Given the description of an element on the screen output the (x, y) to click on. 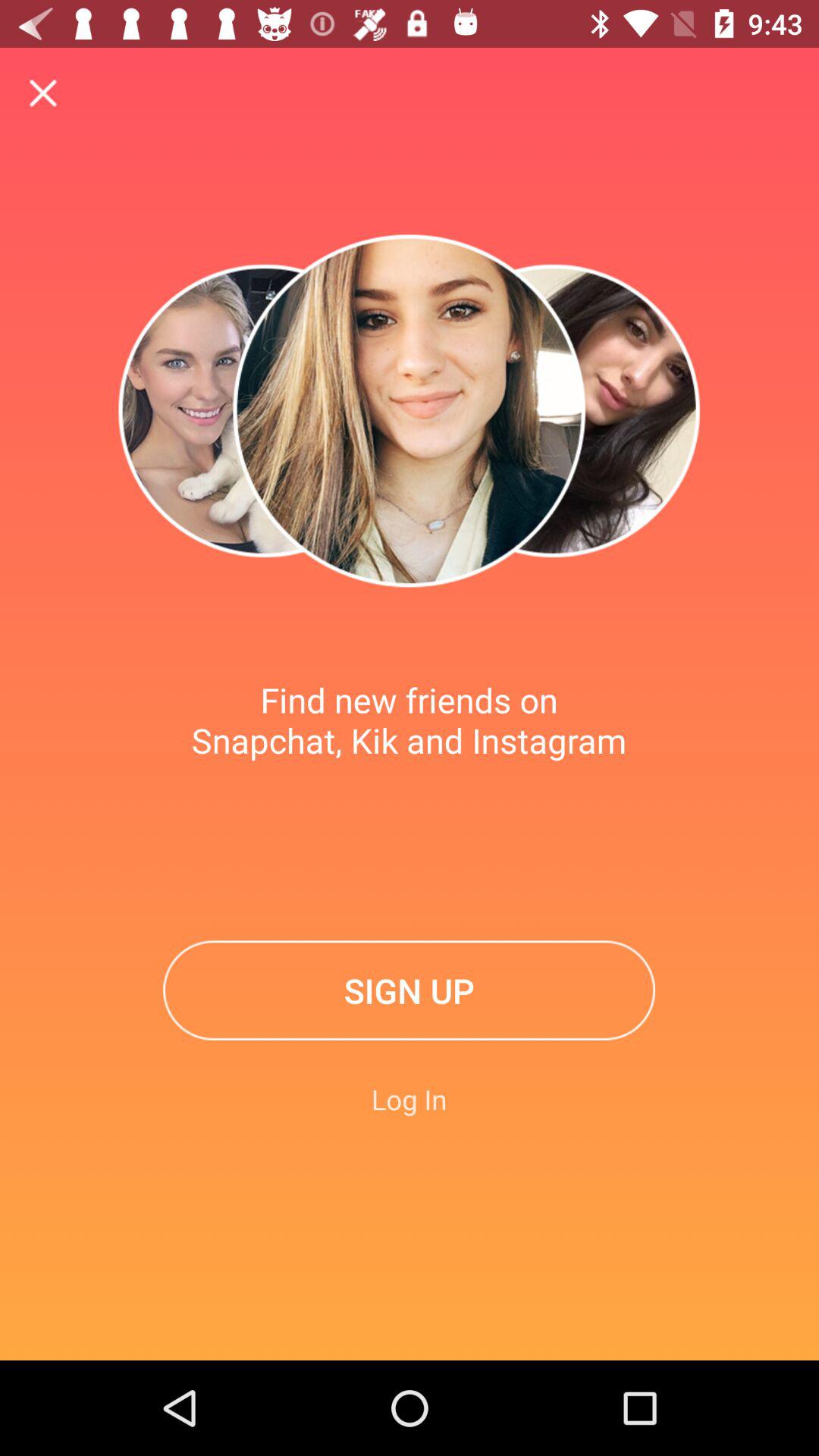
scroll until sign up icon (409, 990)
